Given the description of an element on the screen output the (x, y) to click on. 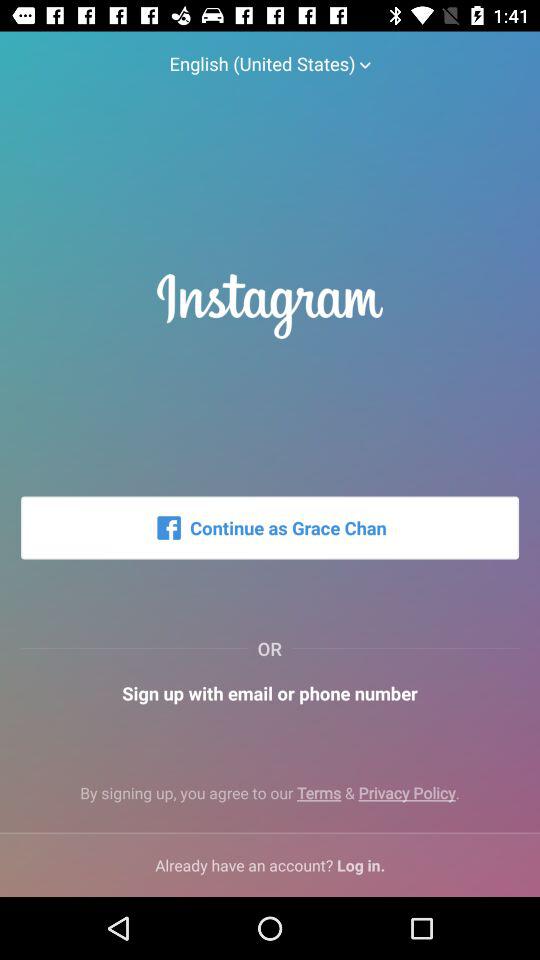
tap the already have an item (270, 864)
